Given the description of an element on the screen output the (x, y) to click on. 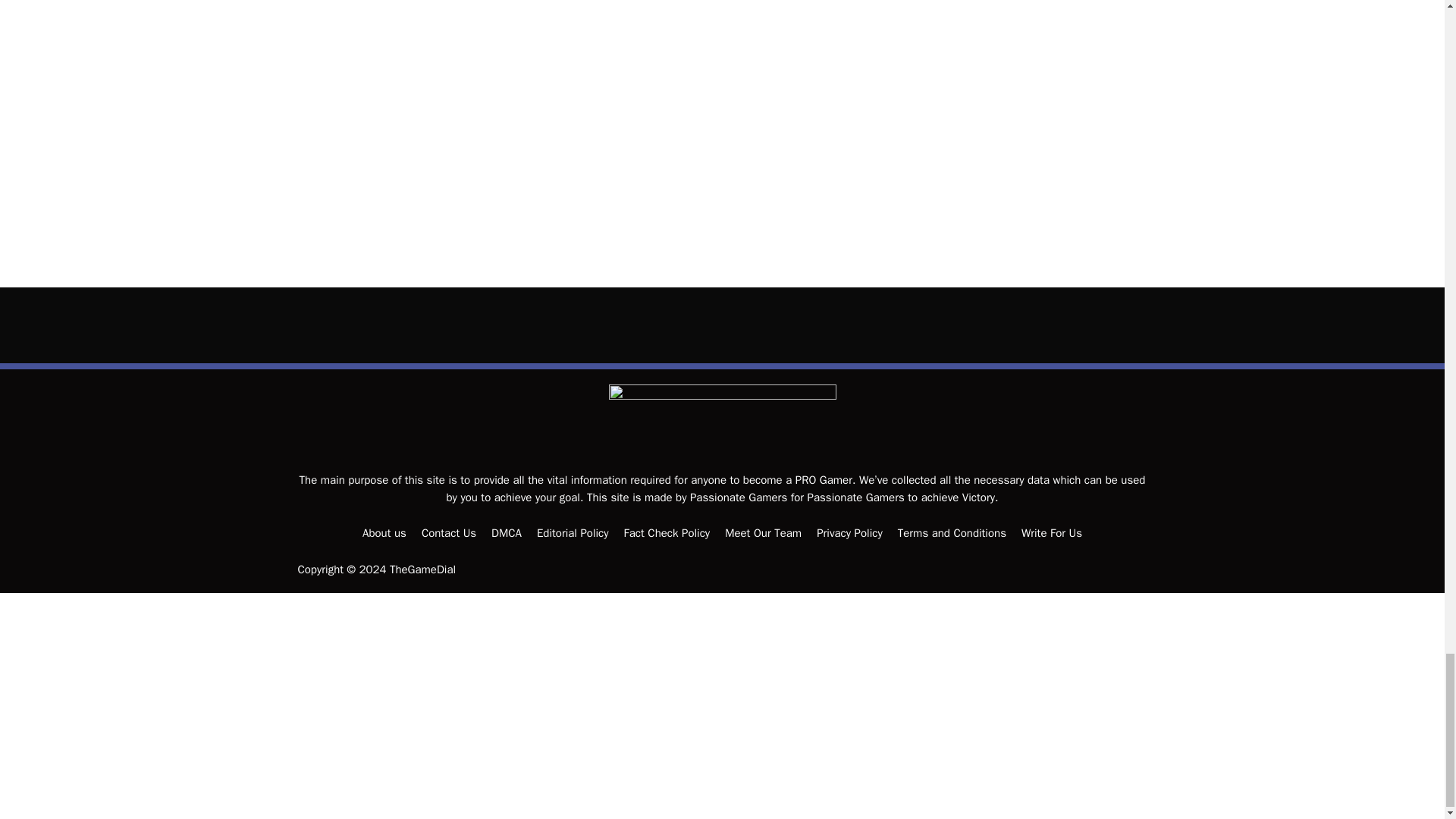
About us (384, 532)
